Given the description of an element on the screen output the (x, y) to click on. 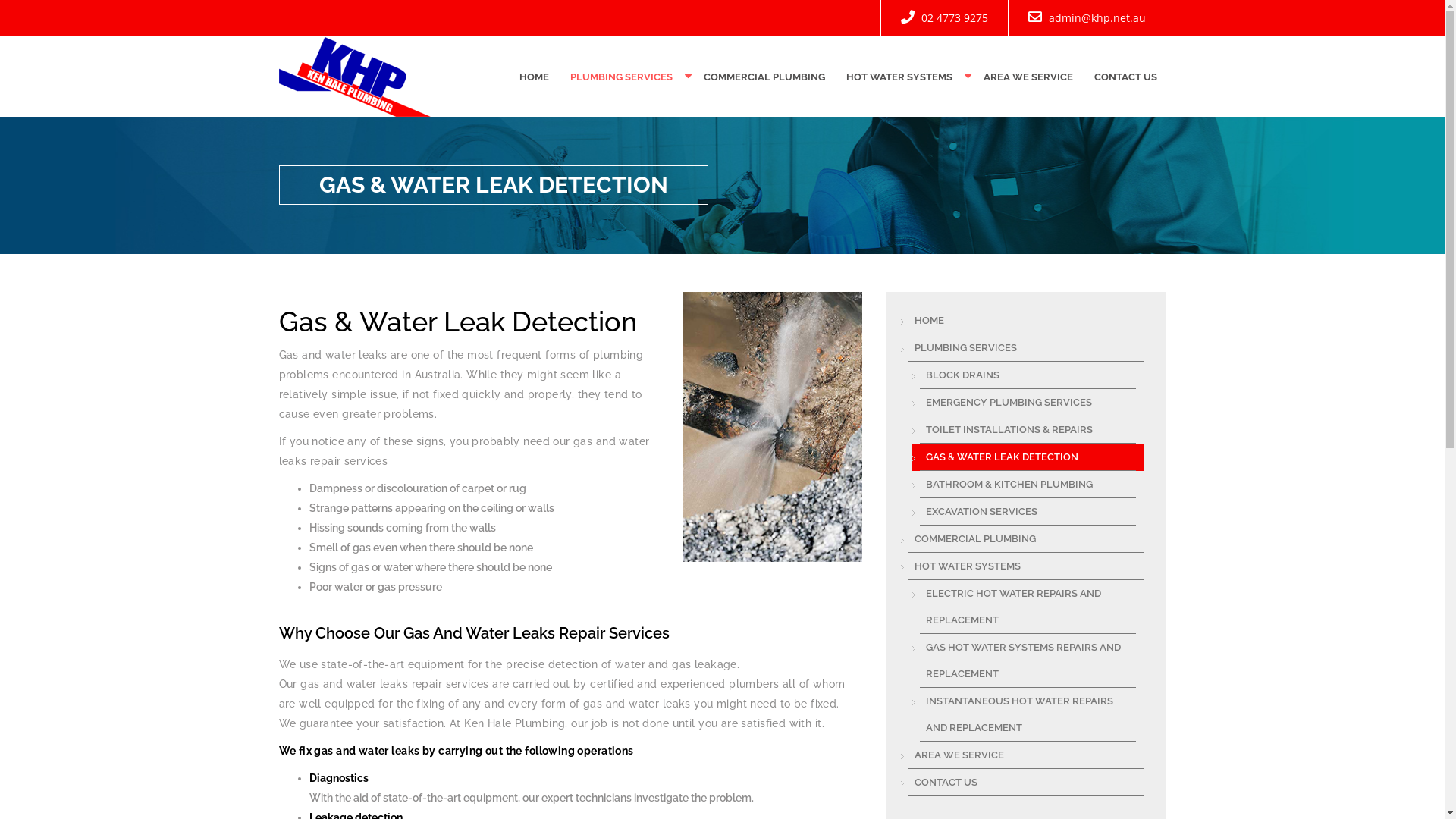
PLUMBING SERVICES Element type: text (1025, 347)
INSTANTANEOUS HOT WATER REPAIRS AND REPLACEMENT Element type: text (1027, 714)
COMMERCIAL PLUMBING Element type: text (1025, 538)
HOME Element type: text (1025, 320)
EMERGENCY PLUMBING SERVICES Element type: text (1027, 402)
BLOCK DRAINS Element type: text (1027, 375)
02 4773 9275 Element type: text (943, 18)
BATHROOM & KITCHEN PLUMBING Element type: text (1027, 484)
AREA WE SERVICE Element type: text (1025, 754)
COMMERCIAL PLUMBING Element type: text (764, 76)
HOT WATER SYSTEMS Element type: text (899, 76)
HOT WATER SYSTEMS Element type: text (1025, 566)
AREA WE SERVICE Element type: text (1027, 76)
CONTACT US Element type: text (1025, 782)
GAS HOT WATER SYSTEMS REPAIRS AND REPLACEMENT Element type: text (1027, 660)
Plumber Element type: hover (354, 75)
TOILET INSTALLATIONS & REPAIRS Element type: text (1027, 429)
HOME Element type: text (533, 76)
PLUMBING SERVICES Element type: text (621, 76)
GAS & WATER LEAK DETECTION Element type: text (1027, 456)
admin@khp.net.au Element type: text (1086, 18)
ELECTRIC HOT WATER REPAIRS AND REPLACEMENT Element type: text (1027, 606)
EXCAVATION SERVICES Element type: text (1027, 511)
CONTACT US Element type: text (1124, 76)
